Given the description of an element on the screen output the (x, y) to click on. 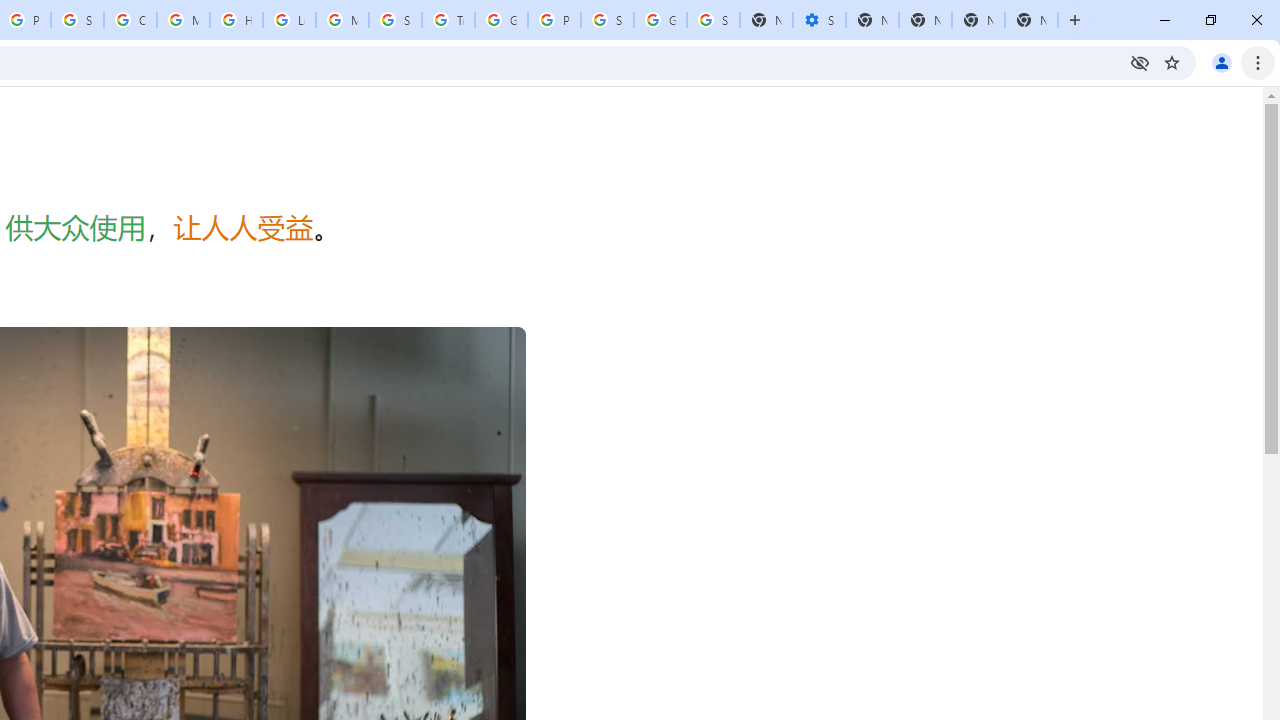
Sign in - Google Accounts (713, 20)
Google Cybersecurity Innovations - Google Safety Center (660, 20)
You (1221, 62)
